Given the description of an element on the screen output the (x, y) to click on. 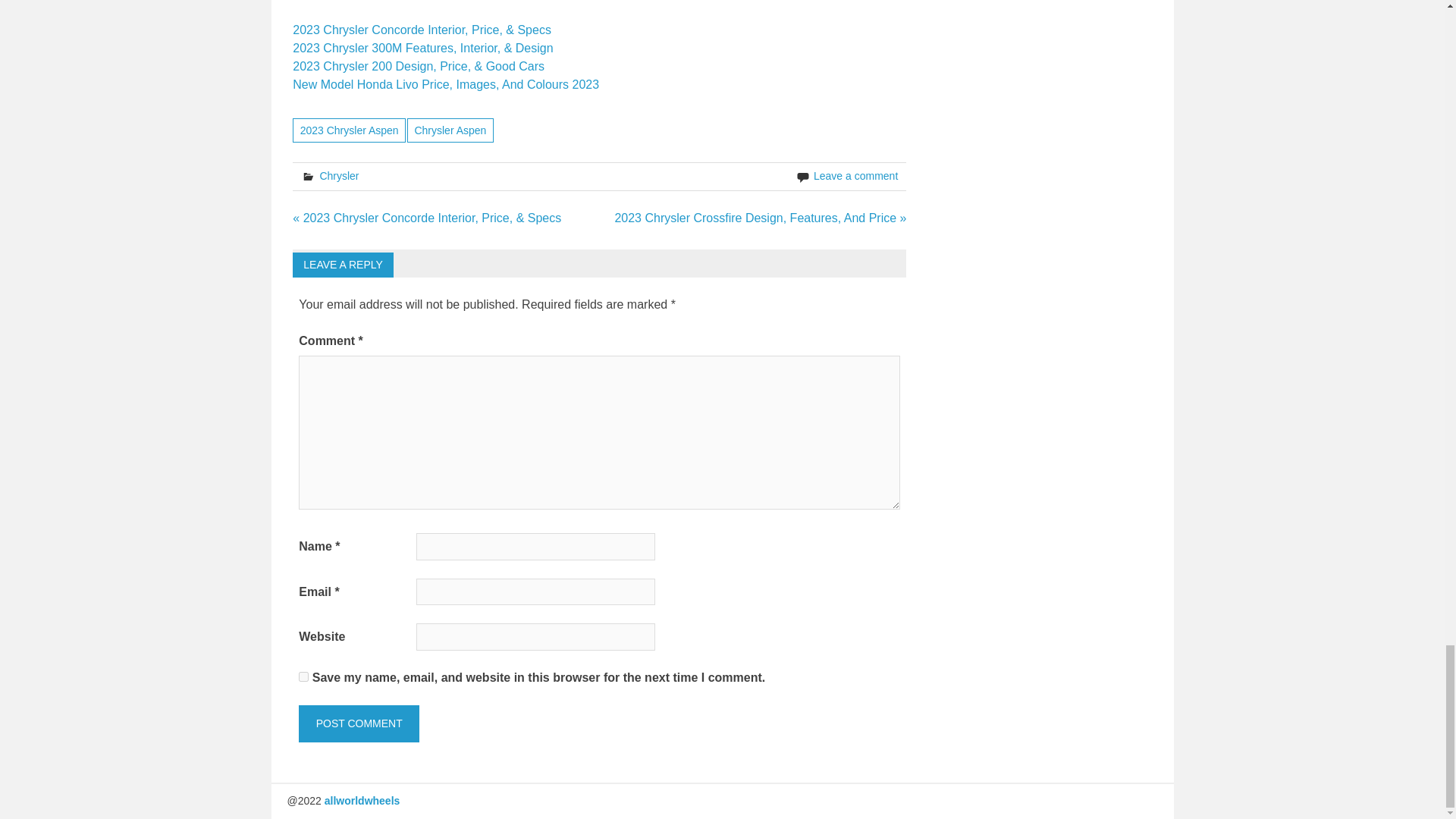
2023 Chrysler Aspen (349, 129)
yes (303, 676)
Post Comment (358, 723)
Leave a comment (855, 175)
Post Comment (358, 723)
New Model Honda Livo Price, Images, And Colours 2023 (445, 83)
Chrysler Aspen (450, 129)
Chrysler (338, 175)
